Given the description of an element on the screen output the (x, y) to click on. 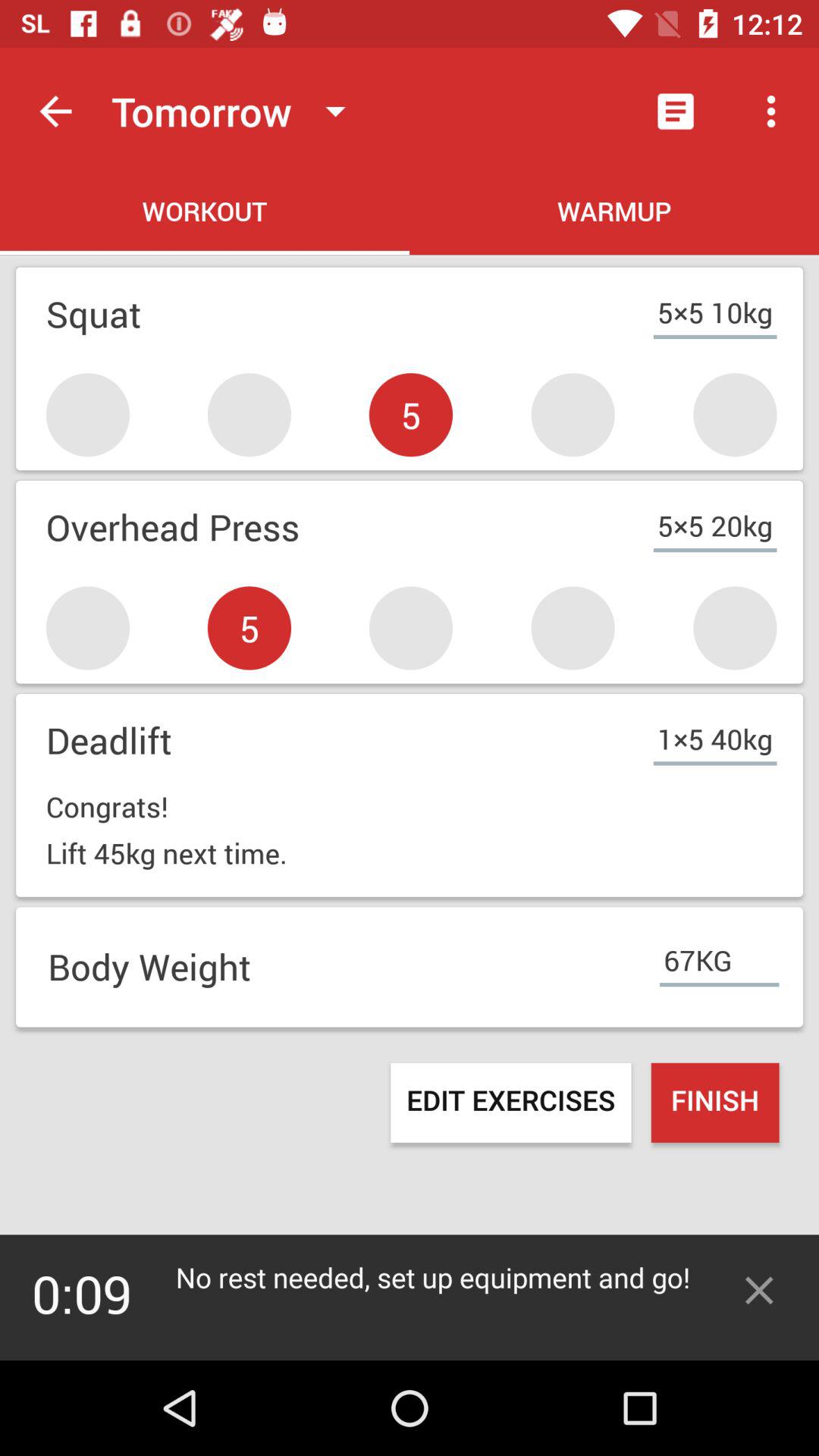
click on the second icon which is at the top right of the page (771, 111)
go to left of menu (675, 111)
click on the button above edit exercises (409, 967)
